Given the description of an element on the screen output the (x, y) to click on. 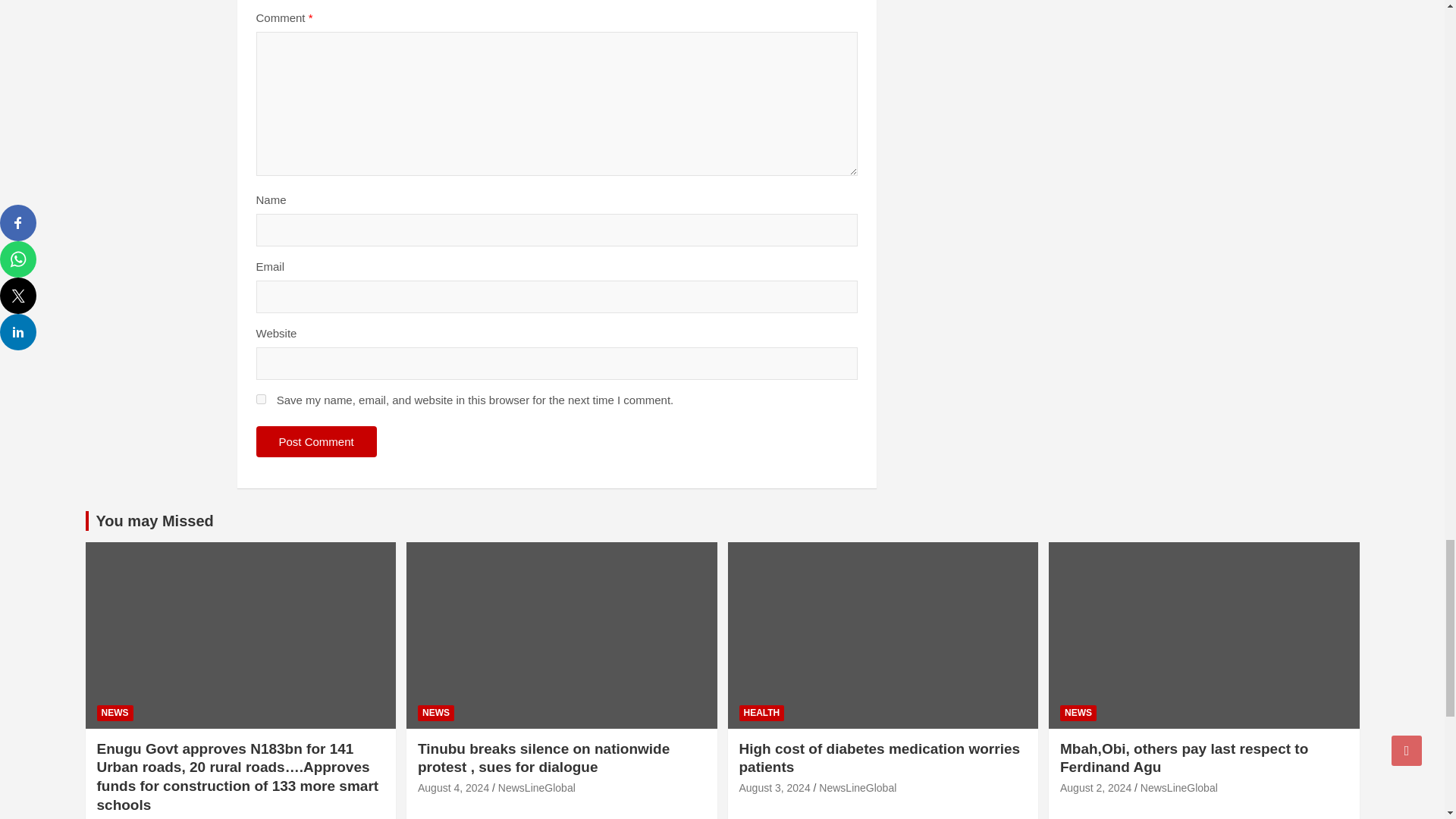
yes (261, 398)
Post Comment (316, 441)
